Given the description of an element on the screen output the (x, y) to click on. 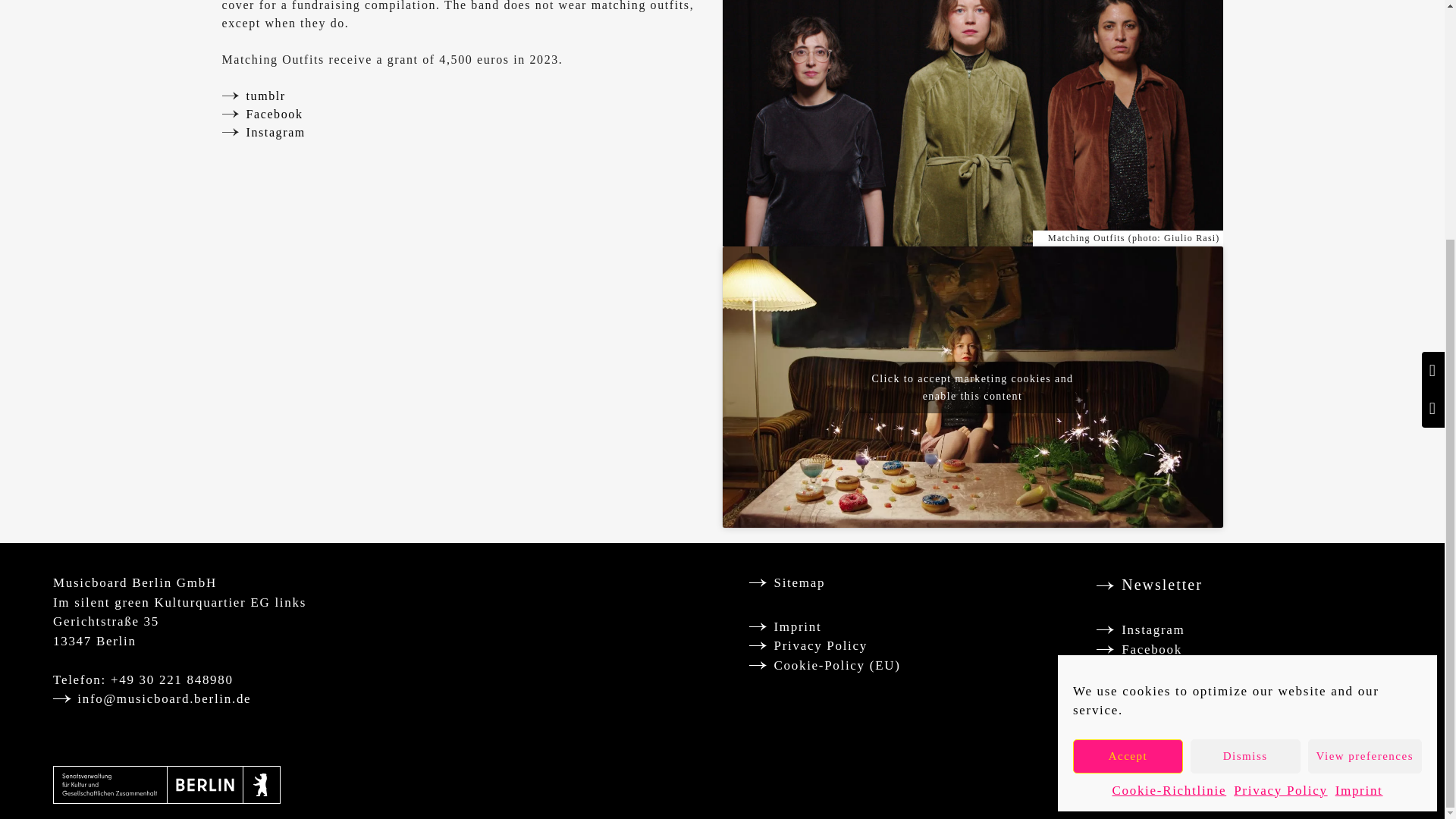
Accept (1127, 425)
Dismiss (1245, 425)
Privacy Policy (1279, 460)
Cookie-Richtlinie (1168, 460)
Imprint (1359, 460)
View preferences (1364, 425)
